Given the description of an element on the screen output the (x, y) to click on. 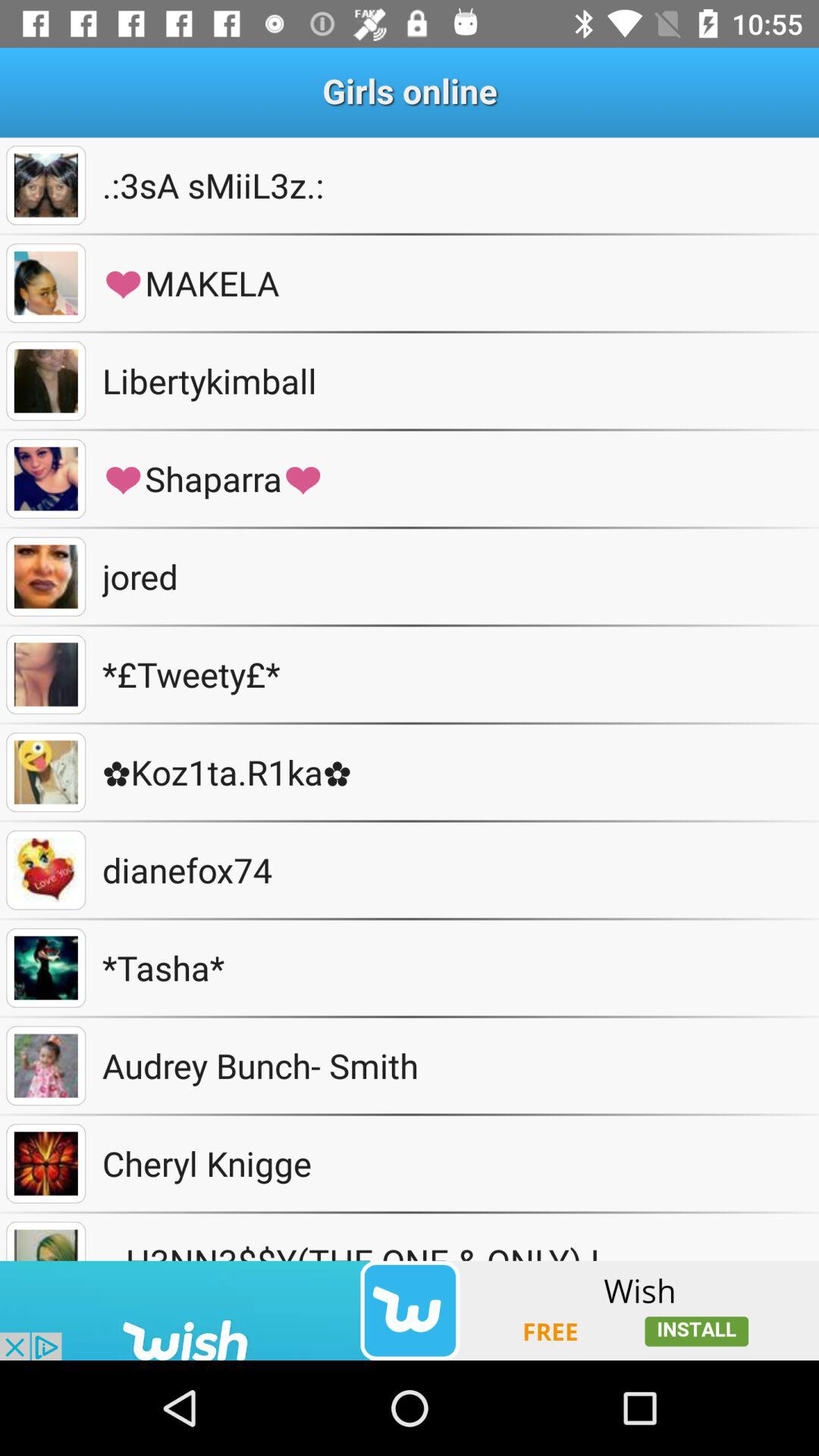
see picture (45, 576)
